Given the description of an element on the screen output the (x, y) to click on. 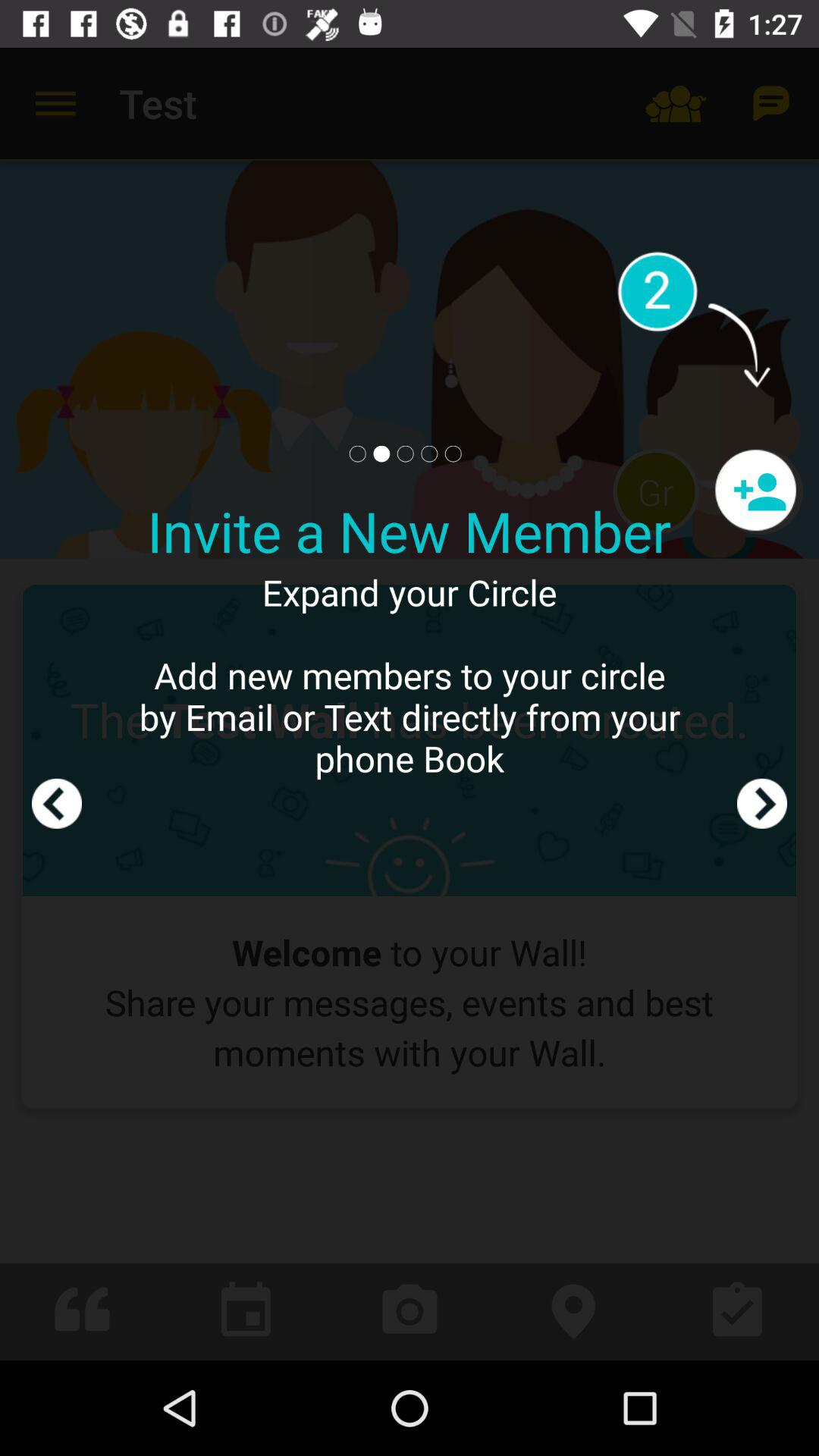
turn off the icon next to the expand your circle (762, 703)
